Given the description of an element on the screen output the (x, y) to click on. 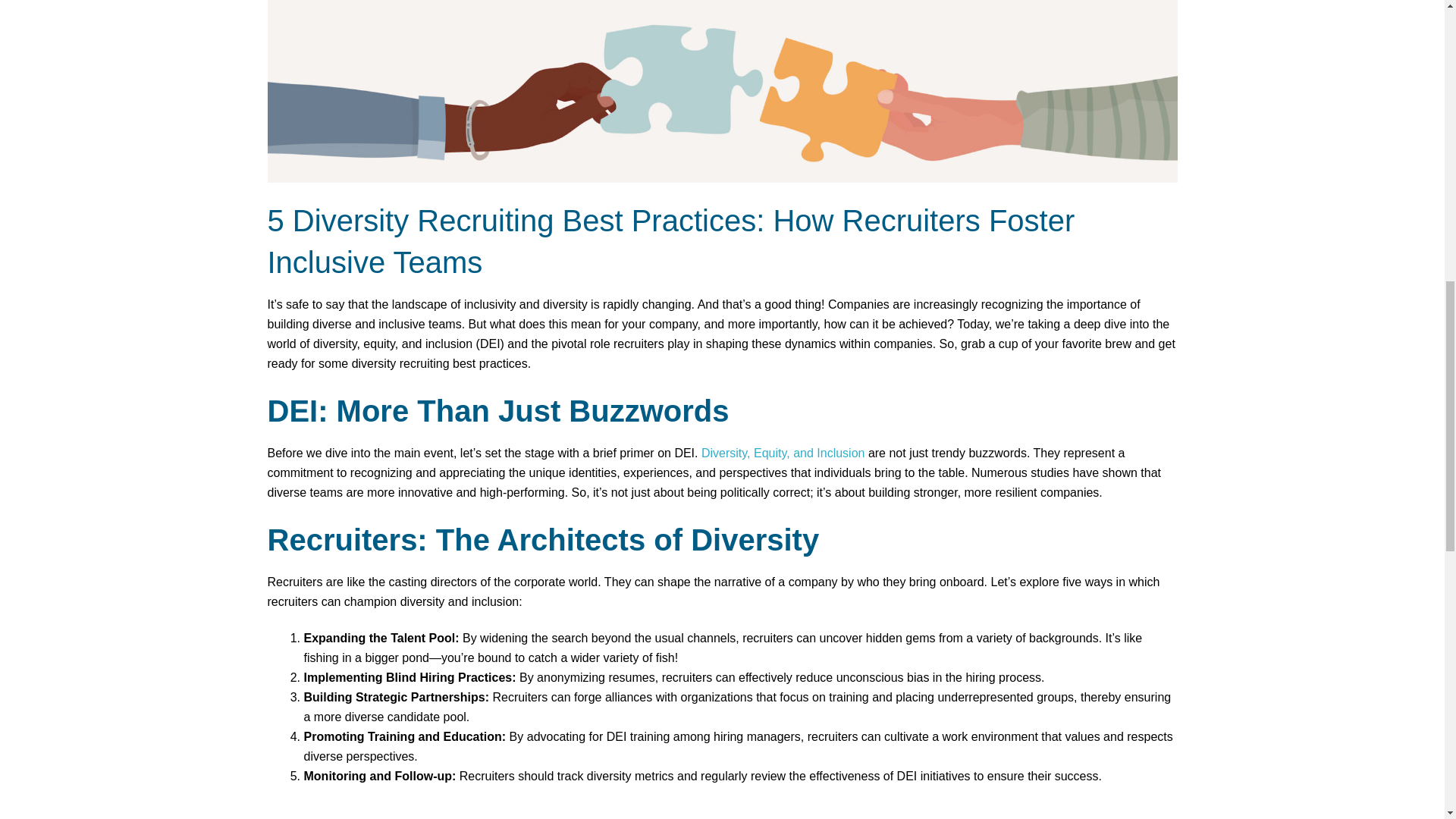
Diversity, Equity, and Inclusion (782, 452)
